Given the description of an element on the screen output the (x, y) to click on. 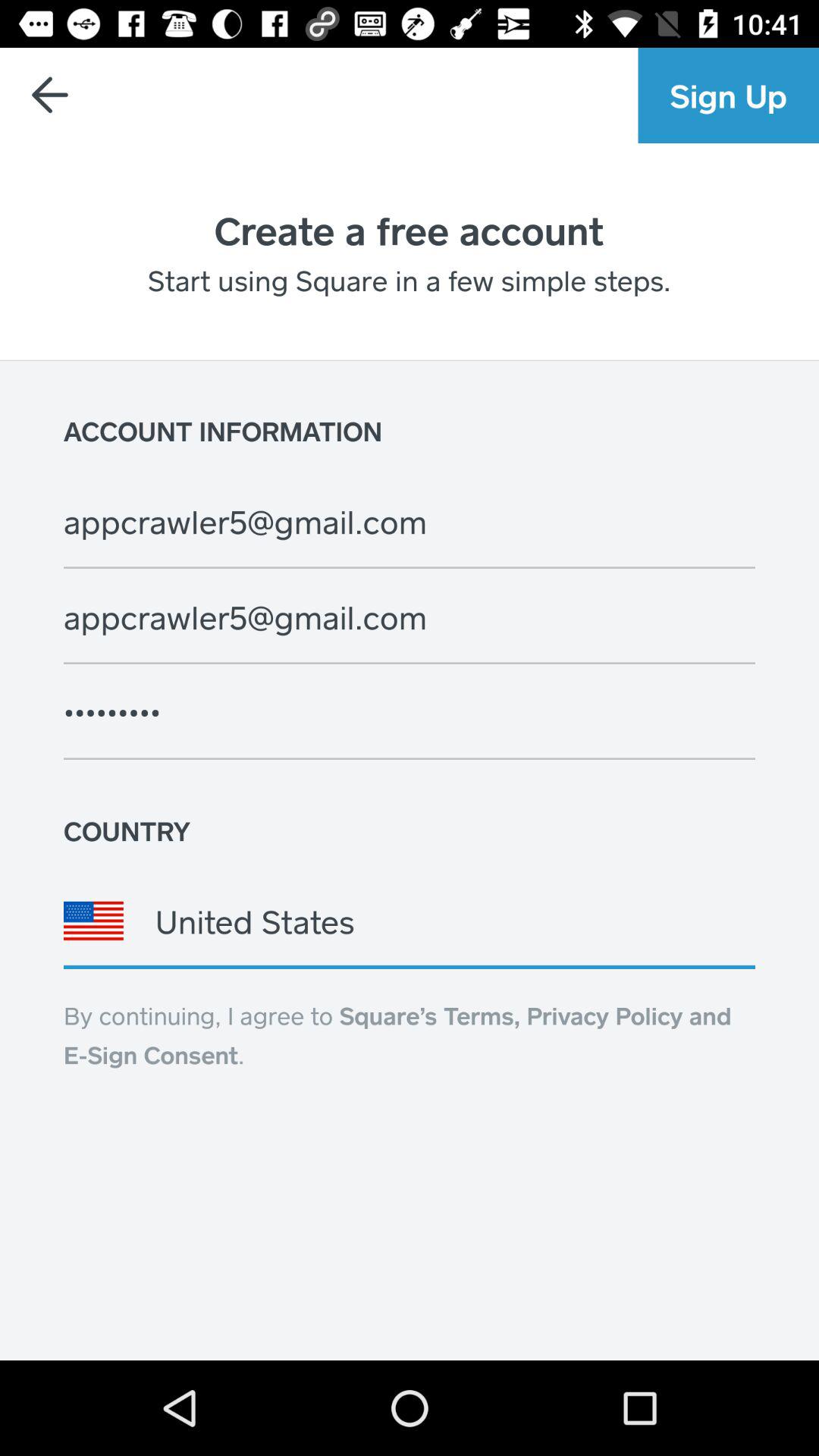
flip until the create a free (409, 230)
